Given the description of an element on the screen output the (x, y) to click on. 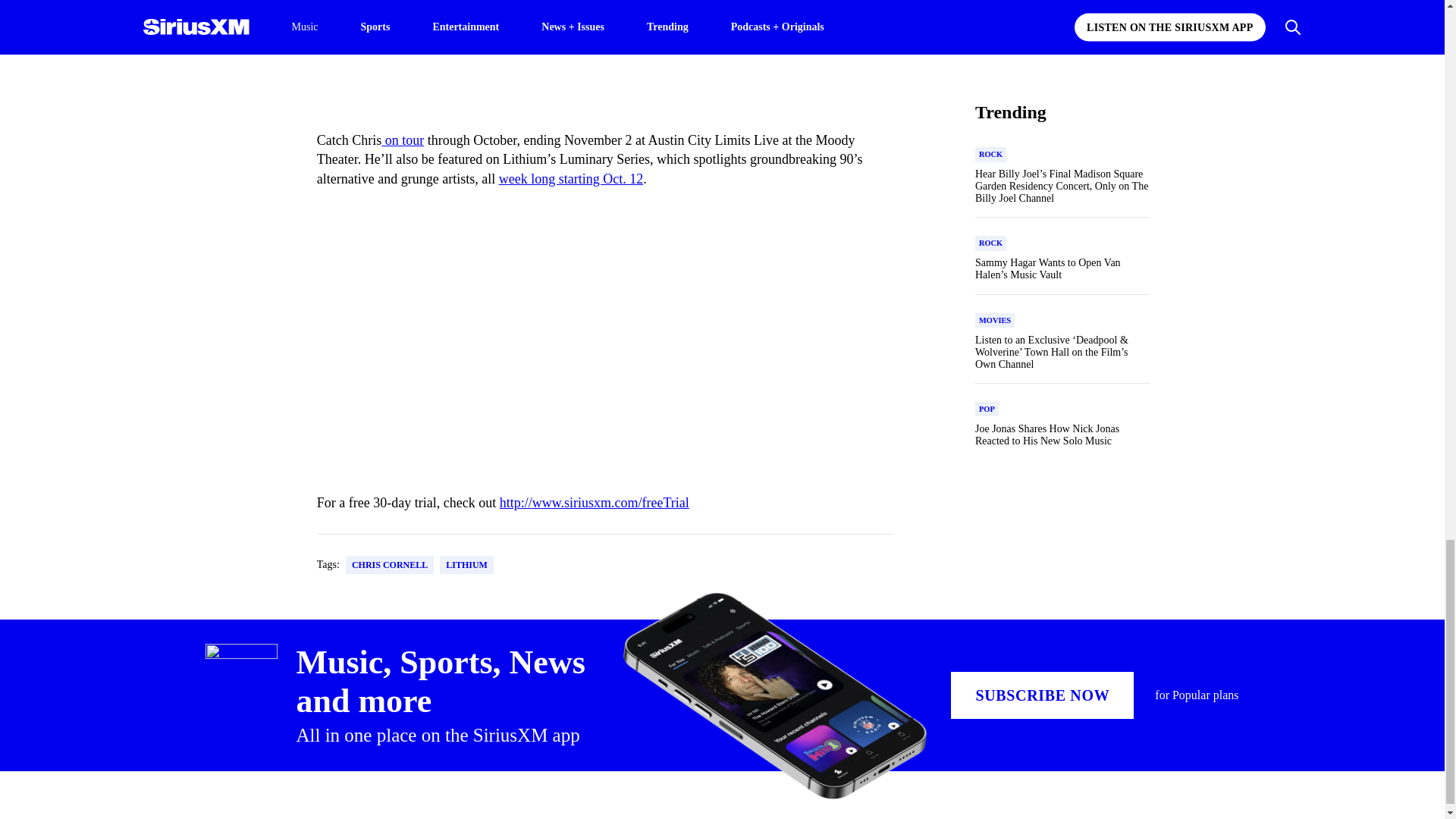
on tour (402, 140)
LITHIUM (466, 565)
CHRIS CORNELL (389, 565)
week long starting Oct. 12 (571, 178)
